Given the description of an element on the screen output the (x, y) to click on. 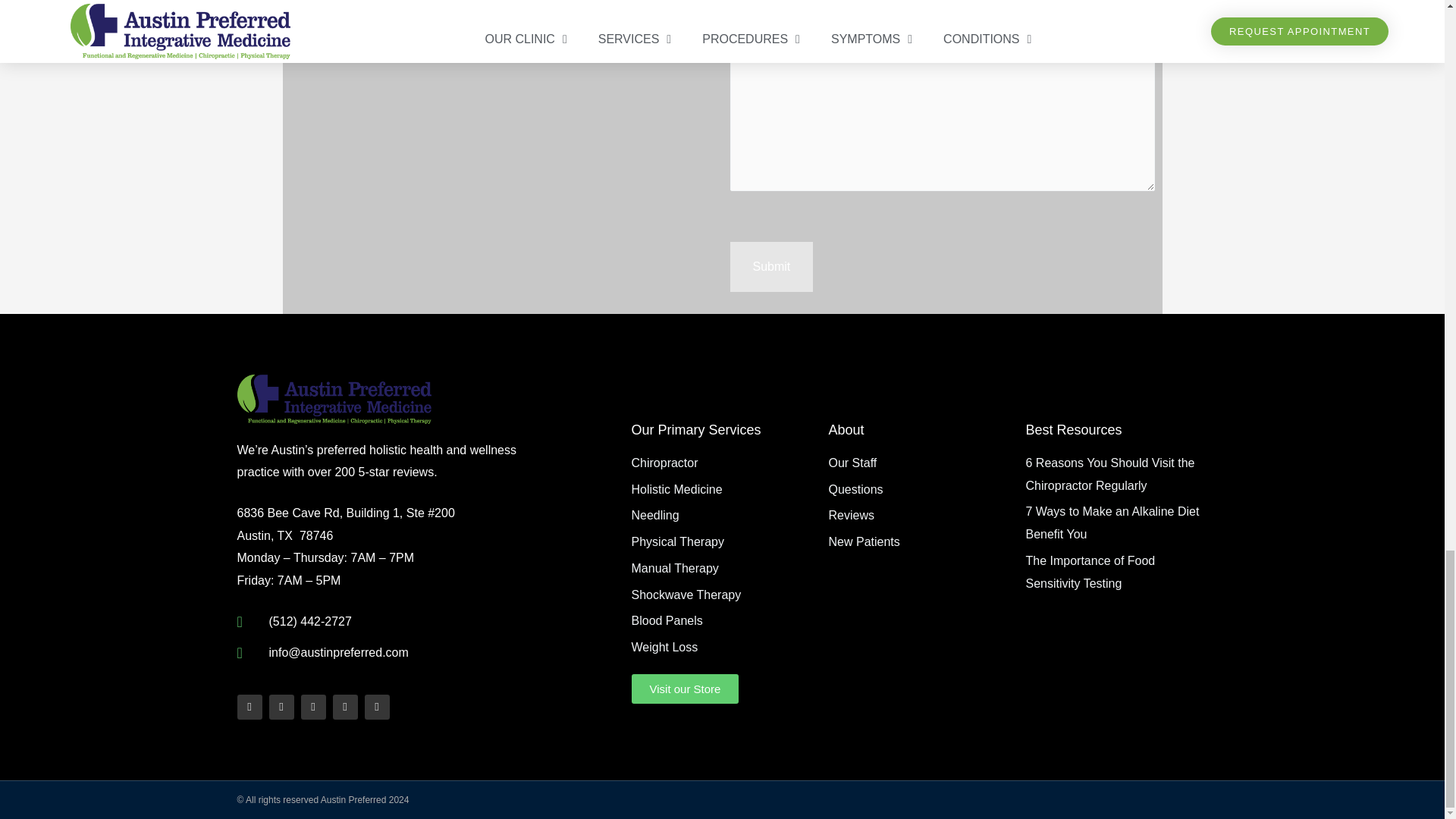
Submit (770, 266)
